Given the description of an element on the screen output the (x, y) to click on. 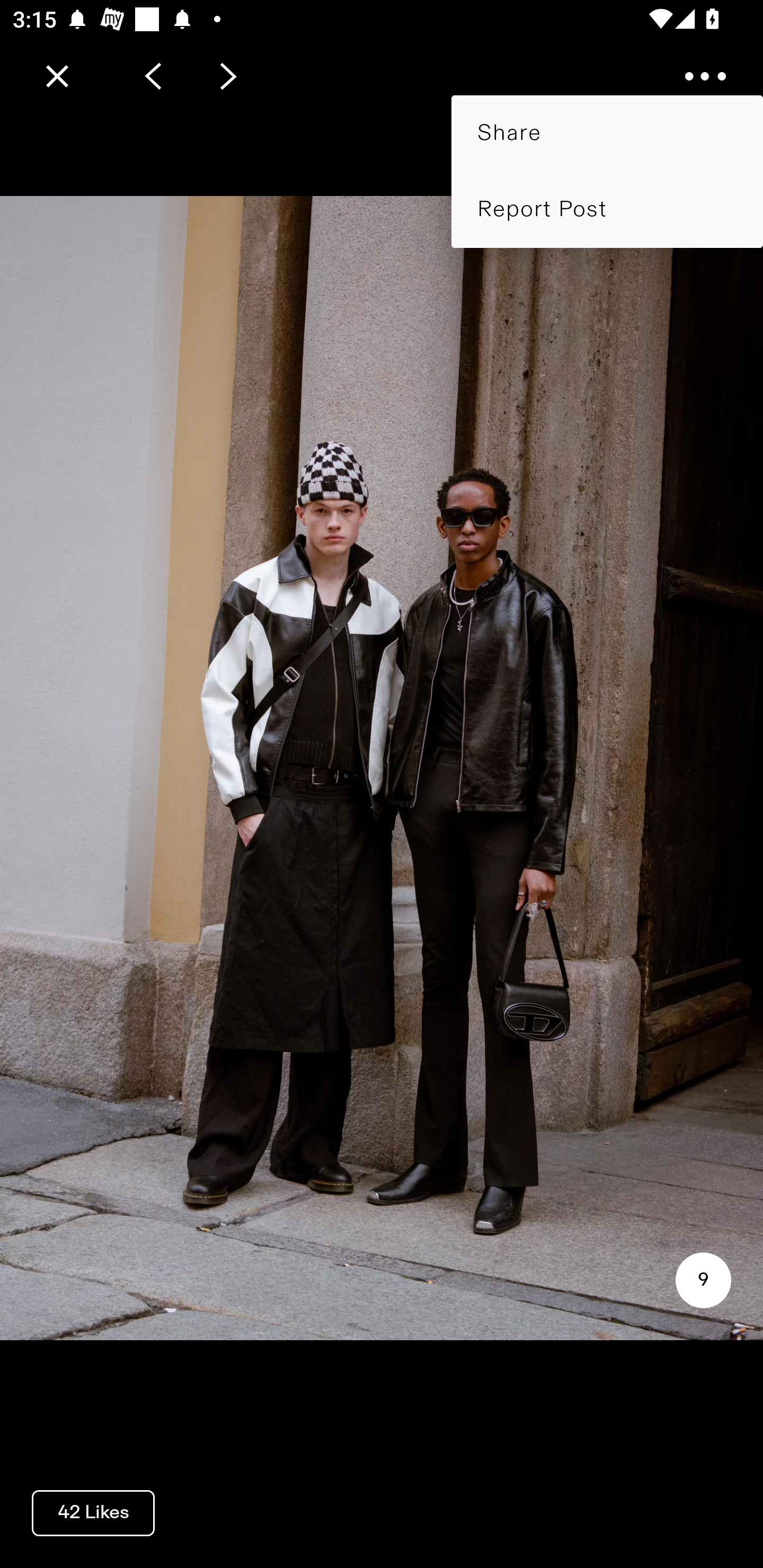
Share (607, 132)
Report Post (607, 208)
